Given the description of an element on the screen output the (x, y) to click on. 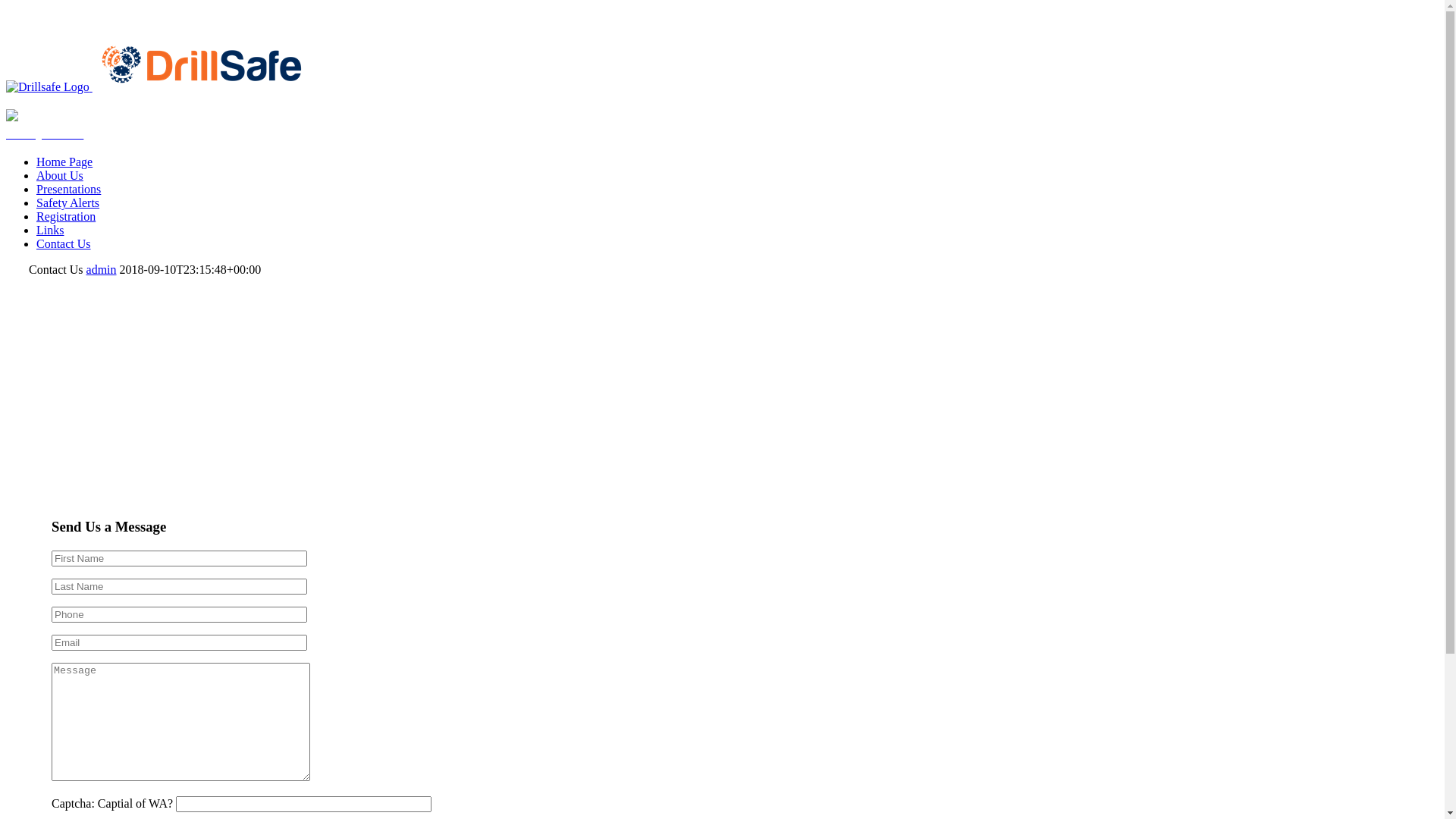
About Us Element type: text (59, 175)
Presentations Element type: text (68, 188)
Contact Us Element type: text (63, 243)
Safety Alerts Element type: text (44, 133)
Linkedin Element type: text (28, 25)
admin Element type: text (101, 269)
info@drillsafe.org.au Element type: text (57, 12)
Home Page Element type: text (64, 161)
Registration Element type: text (65, 216)
Links Element type: text (49, 229)
Safety Alerts Element type: text (67, 202)
